Given the description of an element on the screen output the (x, y) to click on. 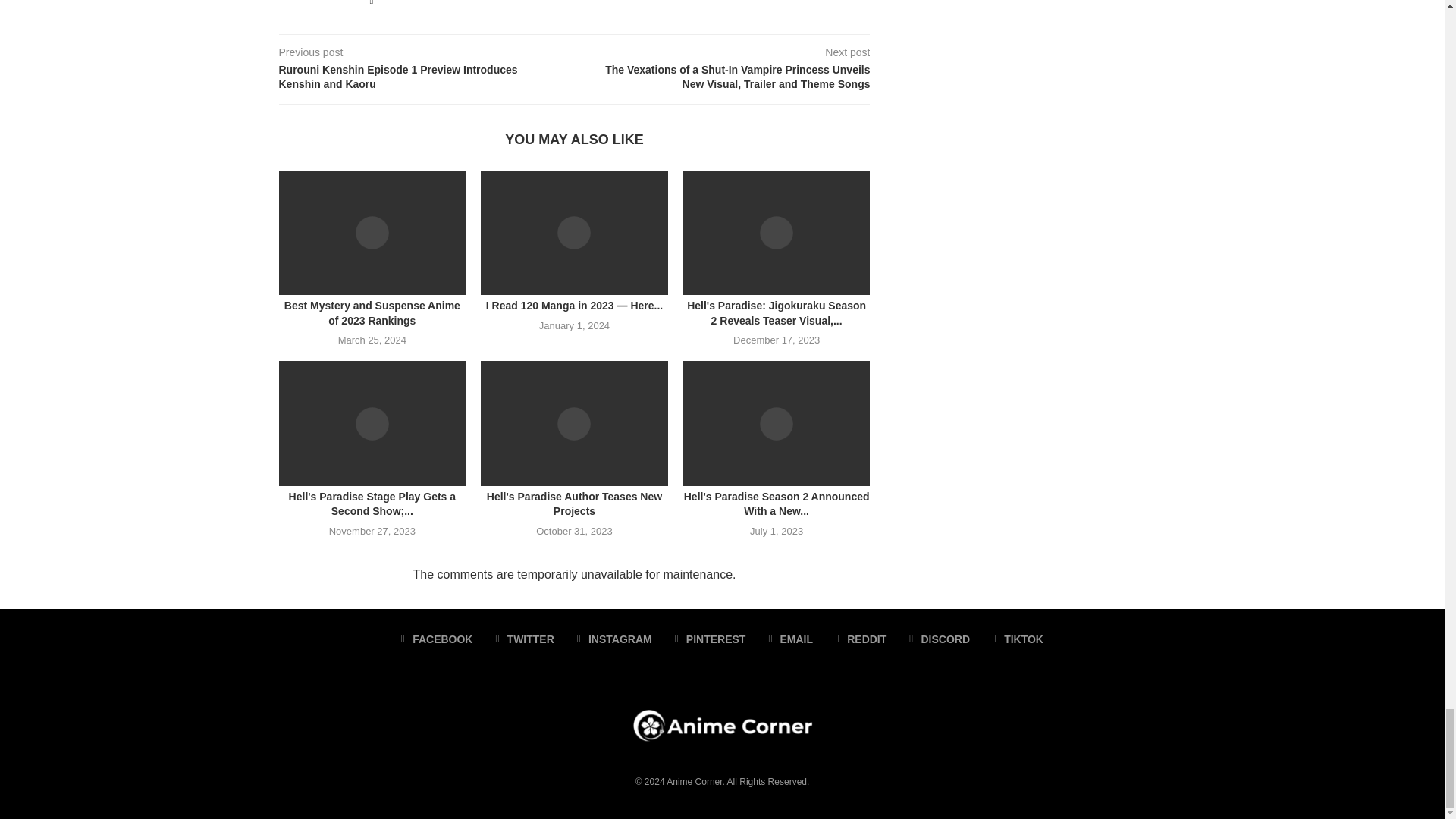
Hell's Paradise Season 2 Announced With a New Trailer (776, 423)
Best Mystery and Suspense Anime of 2023 Rankings (372, 232)
Hell's Paradise Author Teases New Projects (574, 423)
